Given the description of an element on the screen output the (x, y) to click on. 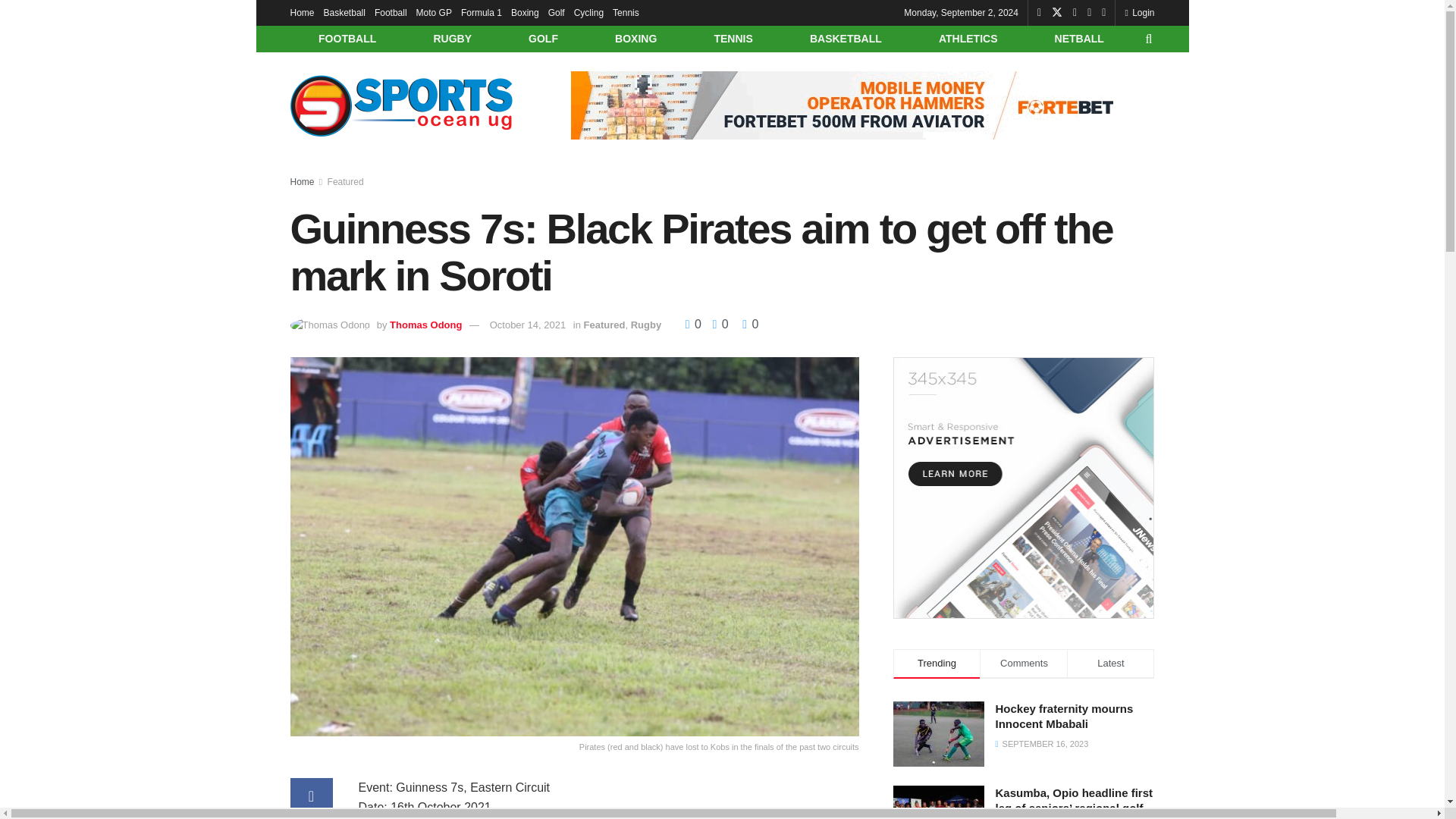
Boxing (524, 12)
Home (301, 12)
Moto GP (433, 12)
Football (390, 12)
FOOTBALL (346, 38)
RUGBY (452, 38)
ATHLETICS (968, 38)
Formula 1 (481, 12)
Basketball (344, 12)
BOXING (635, 38)
